Given the description of an element on the screen output the (x, y) to click on. 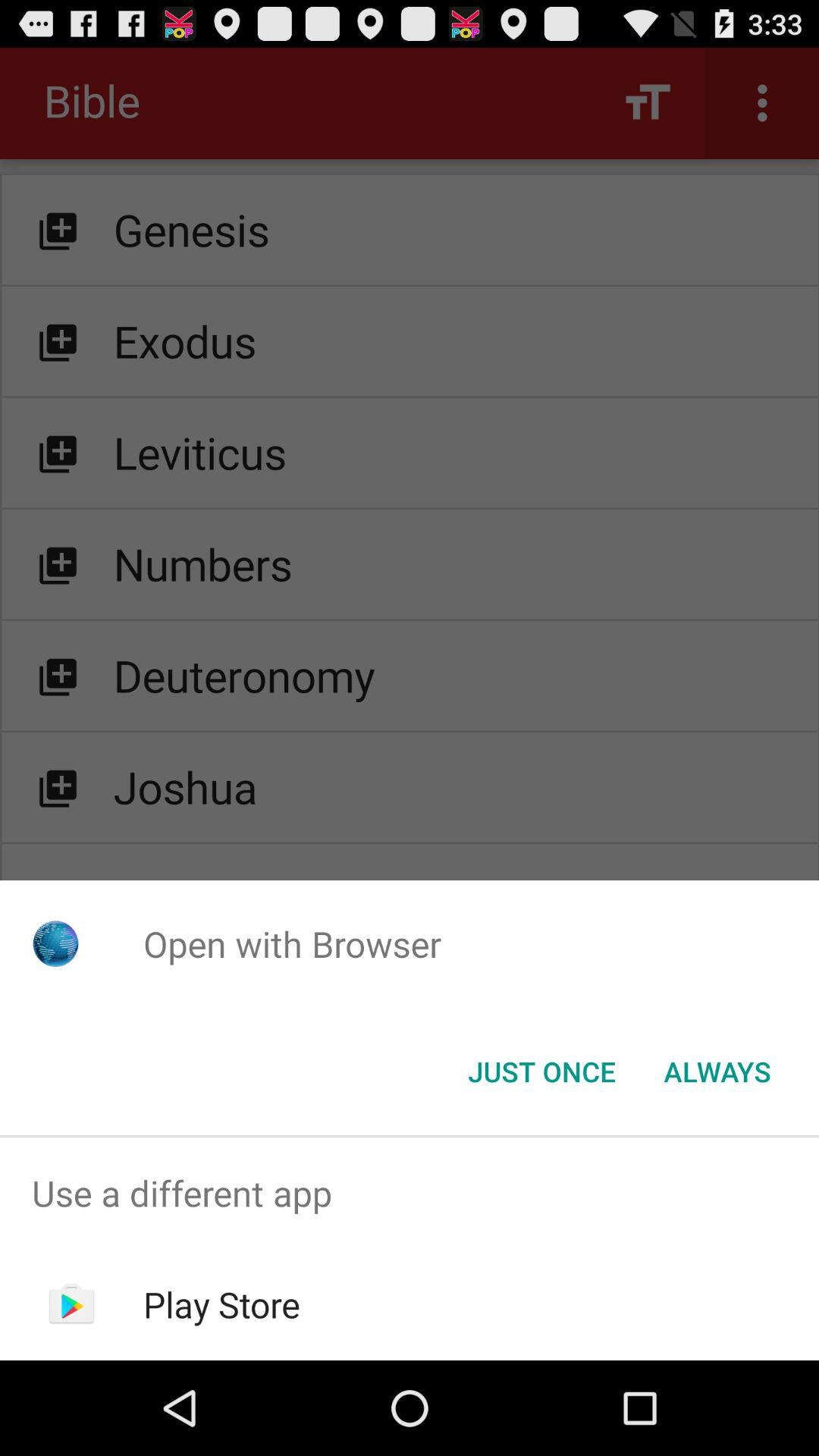
jump until the use a different app (409, 1192)
